Given the description of an element on the screen output the (x, y) to click on. 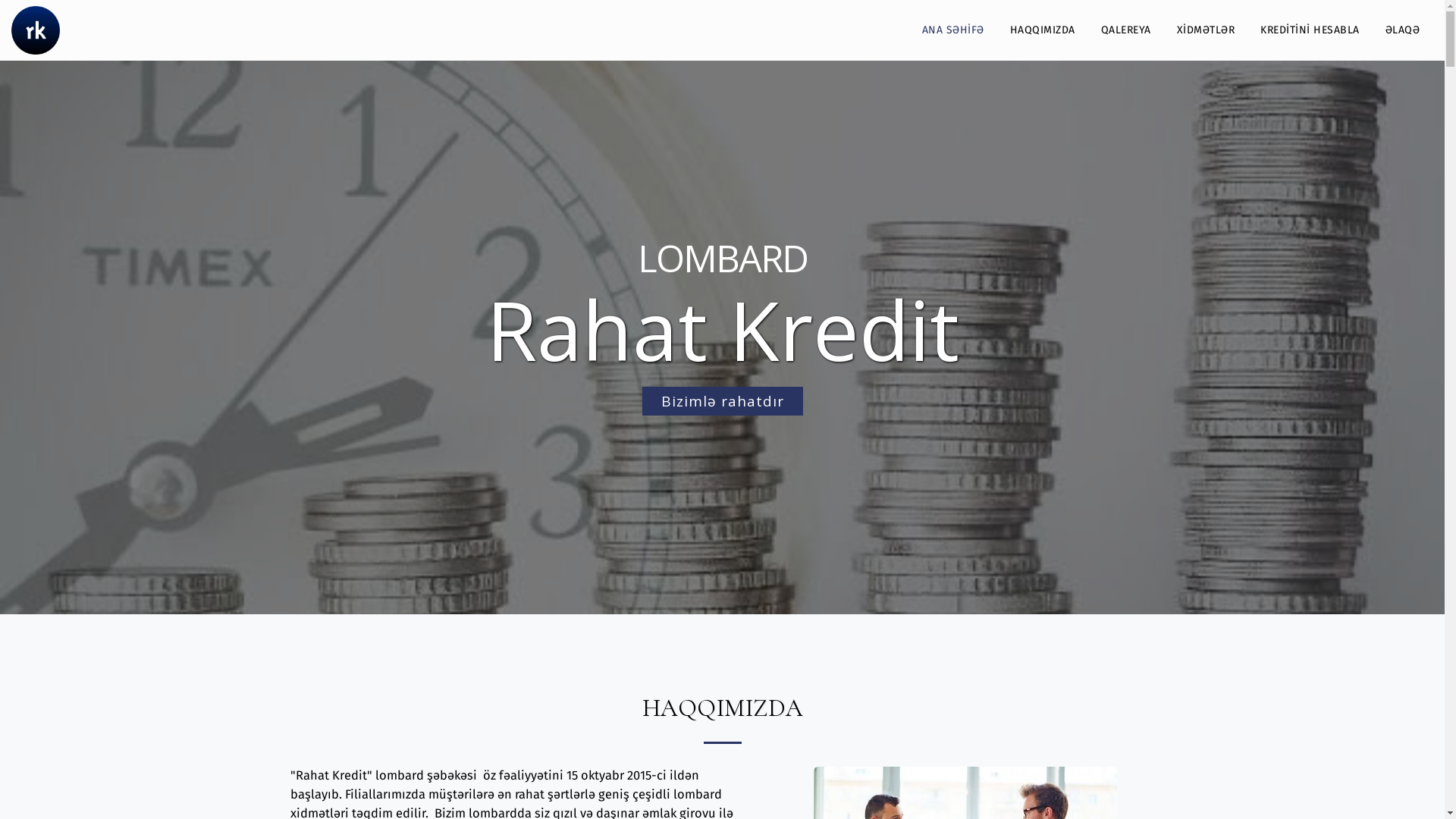
KREDITINI HESABLA Element type: text (1309, 29)
HAQQIMIZDA Element type: text (1041, 29)
QALEREYA Element type: text (1124, 29)
